Given the description of an element on the screen output the (x, y) to click on. 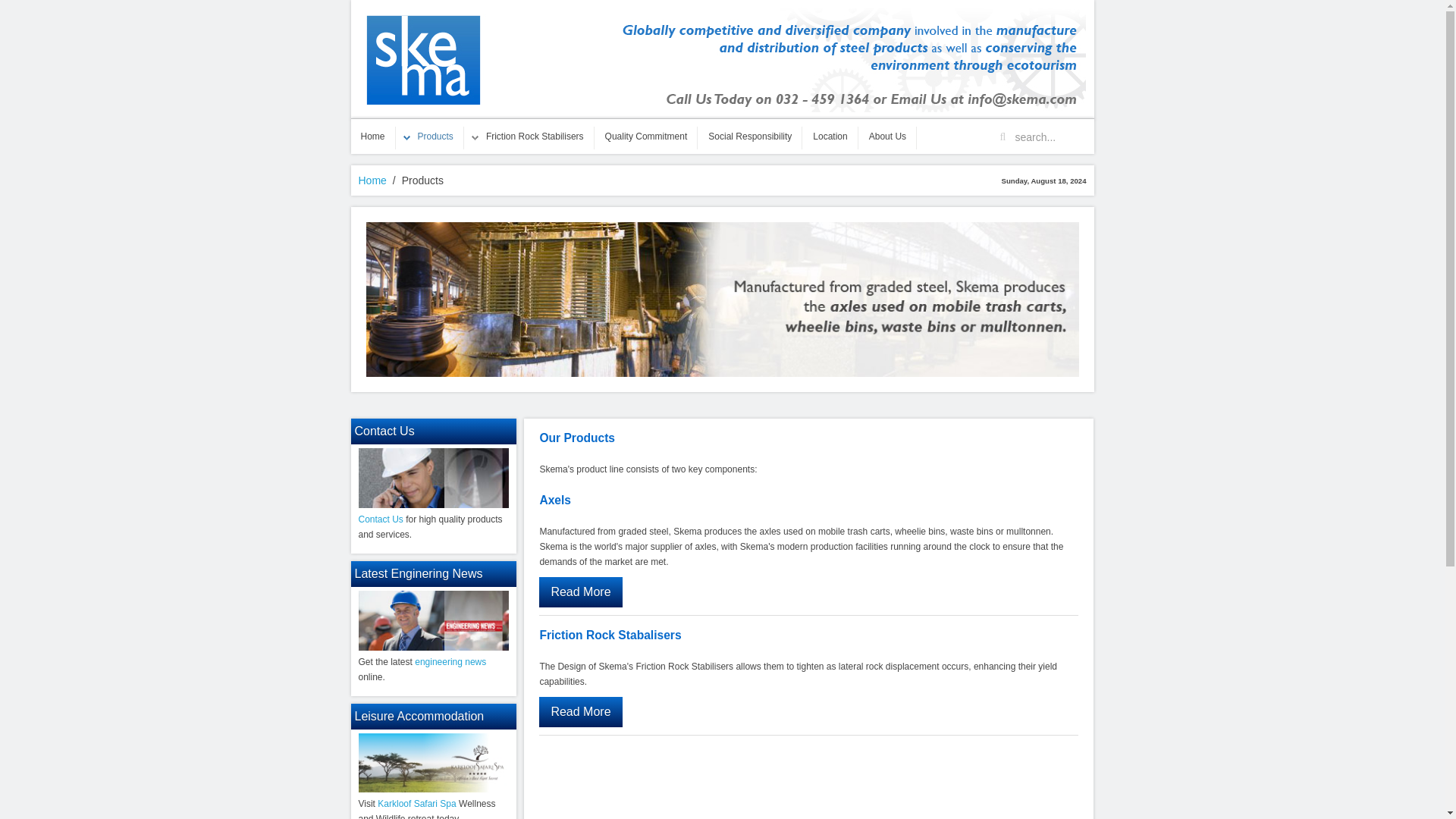
Home (371, 180)
About Us (887, 136)
Contact Us (380, 519)
Karkloof Safari Spa (416, 803)
Quality Commitment (646, 136)
Read More (579, 592)
Read More (579, 711)
Friction Rock Stabilisers (529, 136)
Home (372, 136)
Social Responsibility (750, 136)
